Given the description of an element on the screen output the (x, y) to click on. 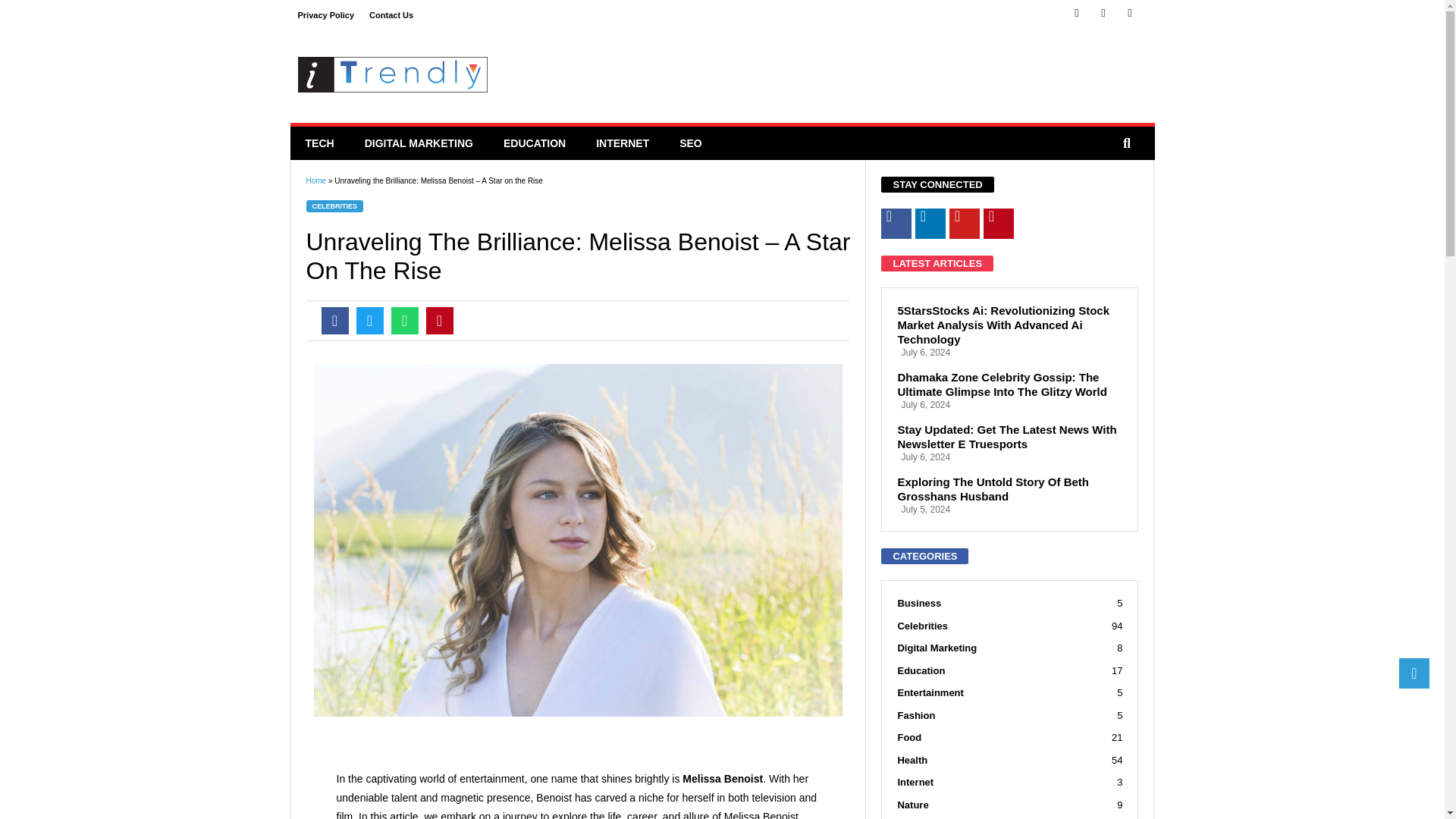
Exploring The Untold Story of Beth Grosshans Husband (1009, 489)
Home (315, 180)
EDUCATION (533, 142)
INTERNET (621, 142)
CELEBRITIES (334, 205)
Privacy Policy (325, 14)
Contact Us (391, 14)
DIGITAL MARKETING (418, 142)
SEO (690, 142)
TECH (319, 142)
